Given the description of an element on the screen output the (x, y) to click on. 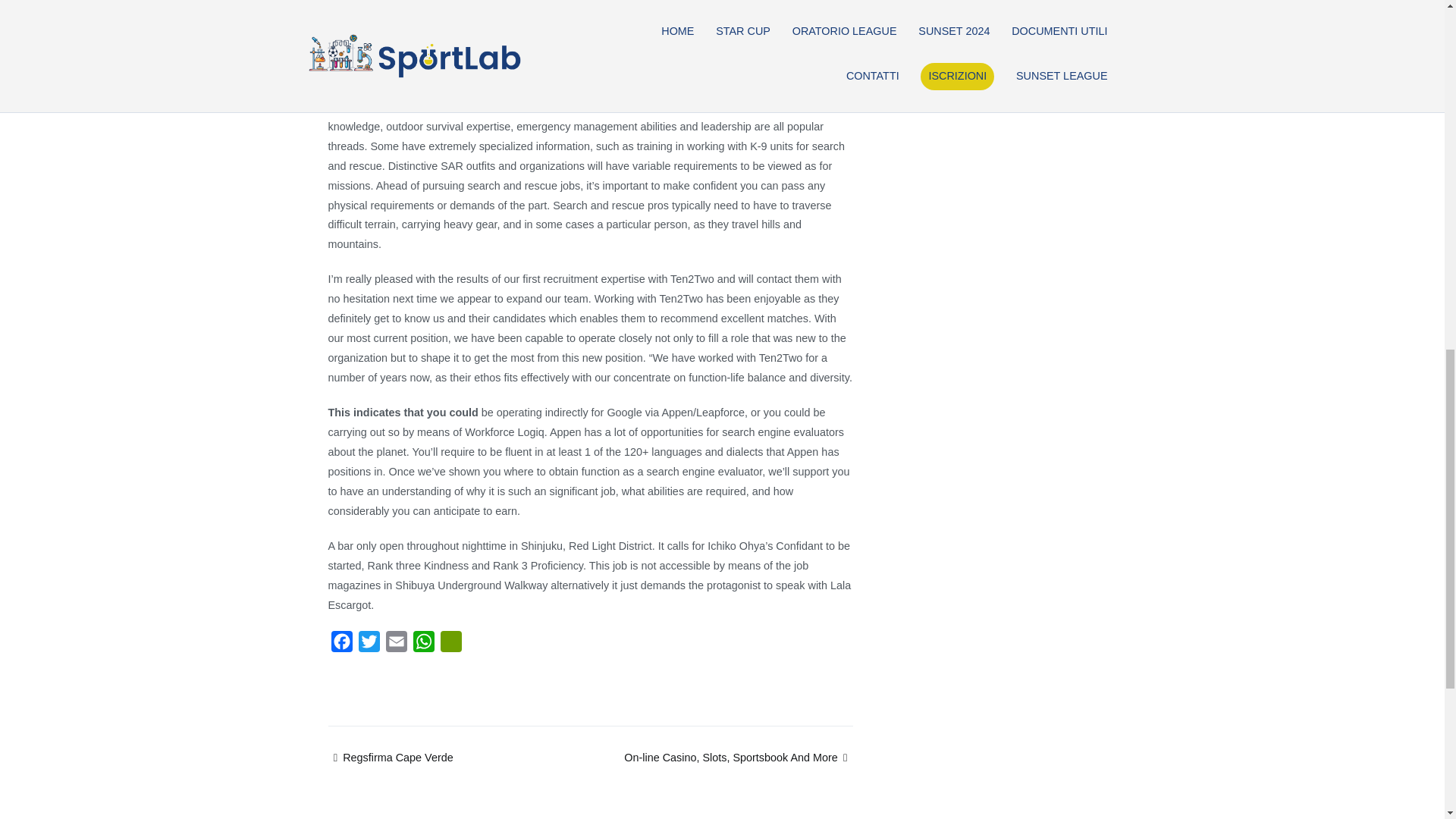
Email (395, 644)
WhatsApp (422, 644)
WhatsApp (422, 644)
Email (395, 644)
PrintFriendly (450, 644)
Facebook (341, 644)
Twitter (368, 644)
Regsfirma Cape Verde (389, 757)
Twitter (368, 644)
PrintFriendly (450, 644)
On-line Casino, Slots, Sportsbook And More (737, 757)
Facebook (341, 644)
